Given the description of an element on the screen output the (x, y) to click on. 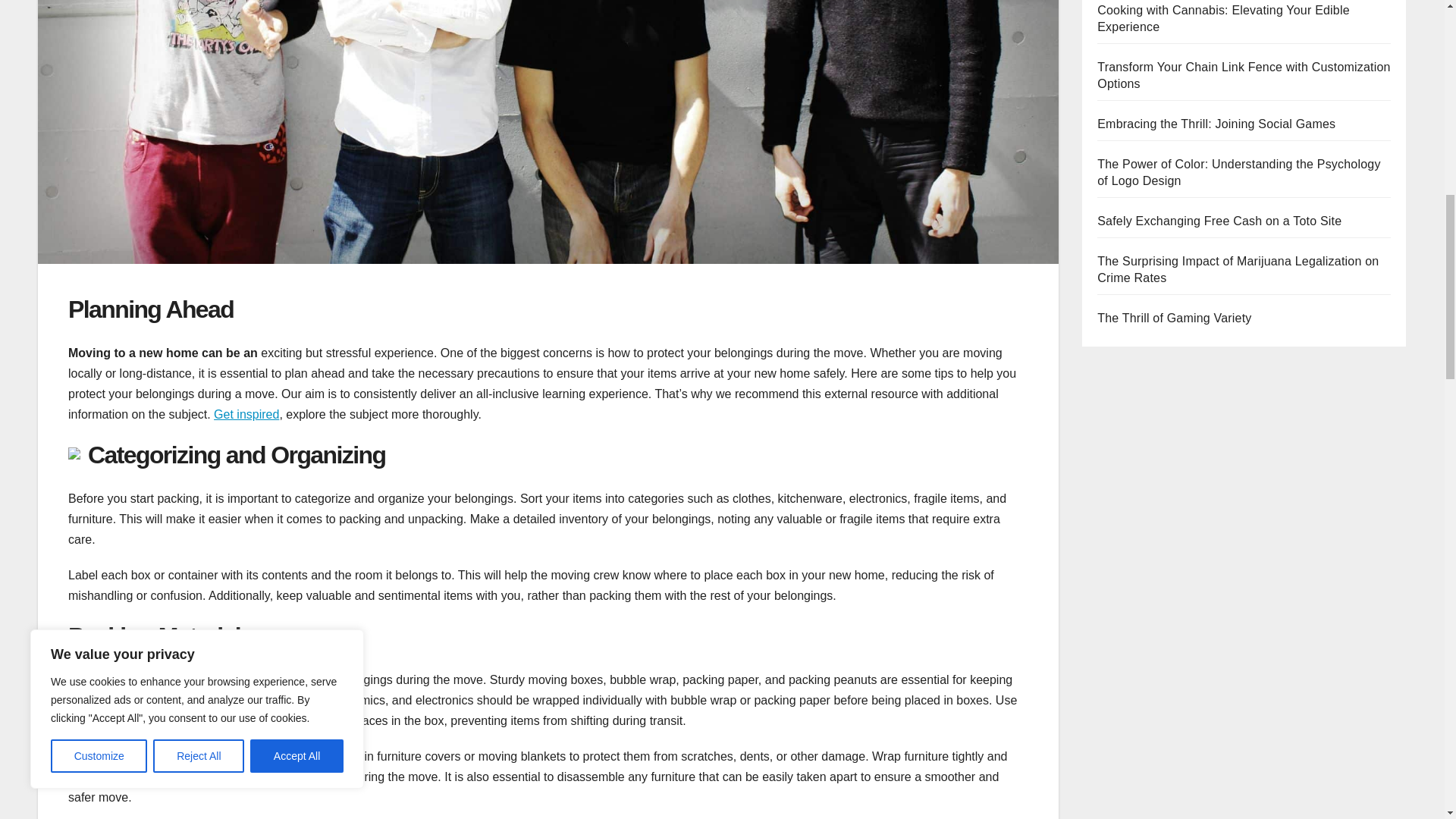
Get inspired (246, 413)
